Given the description of an element on the screen output the (x, y) to click on. 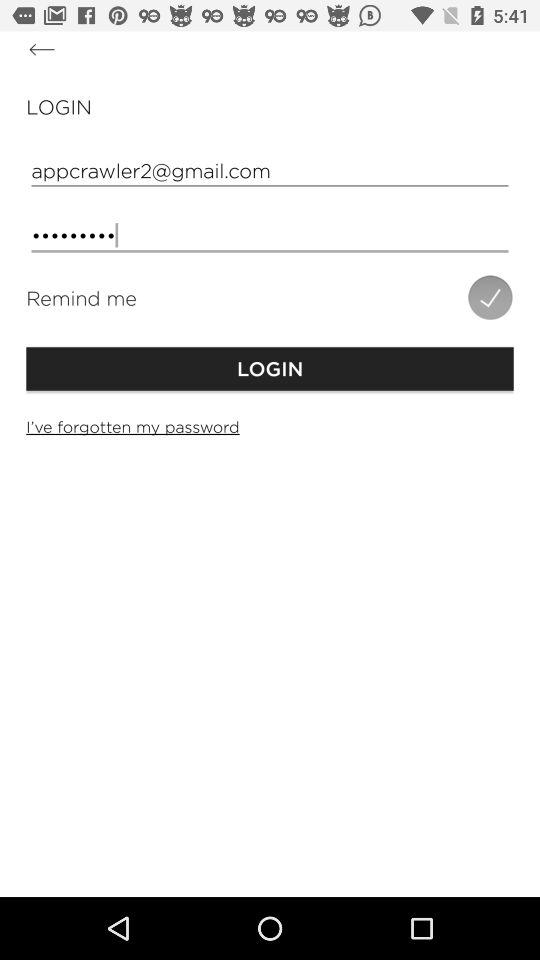
choose the item below the login (269, 170)
